Given the description of an element on the screen output the (x, y) to click on. 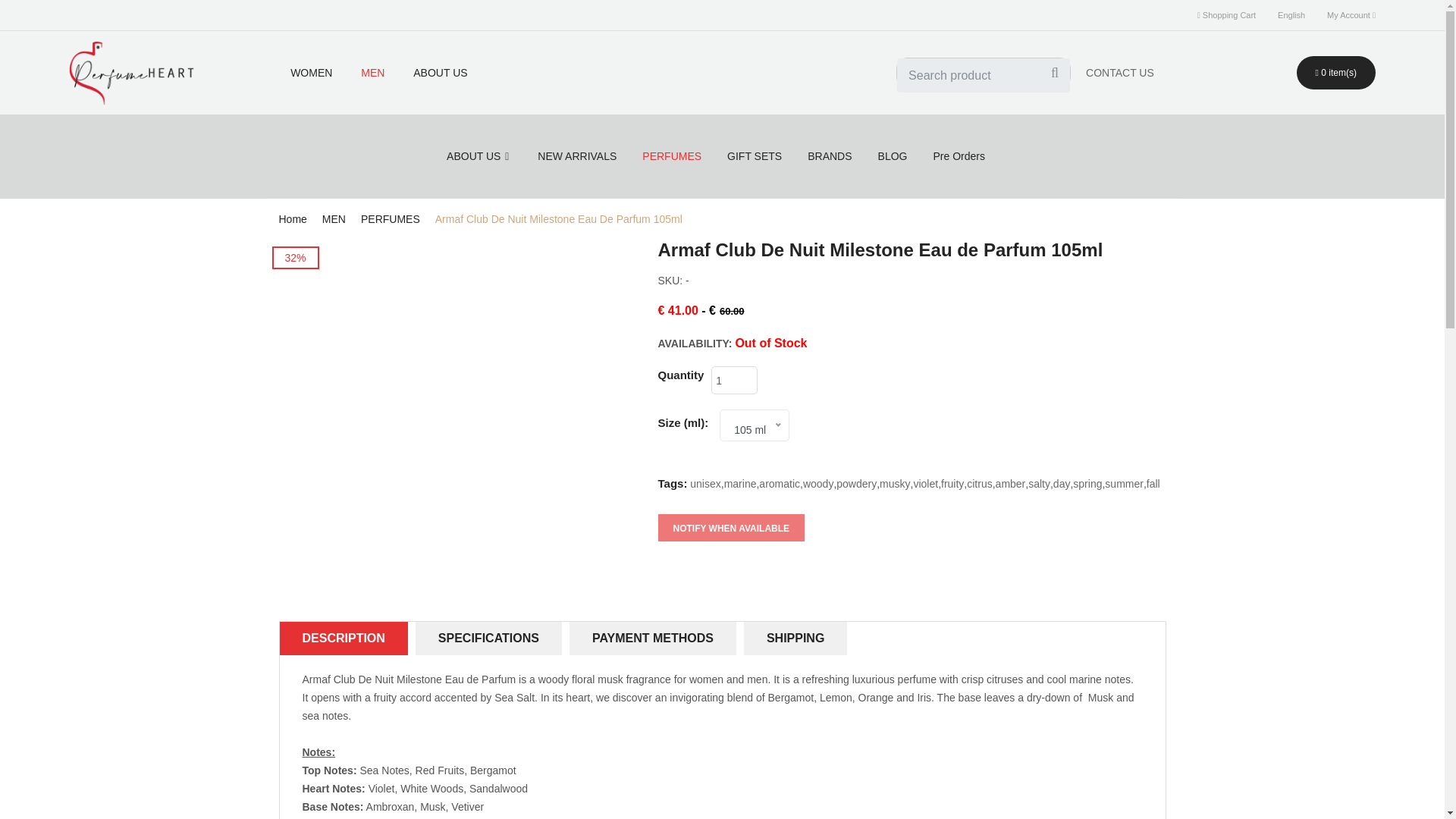
1 (734, 379)
Shopping Cart (1225, 15)
ABOUT US (440, 72)
My Account (1350, 15)
ABOUT US (440, 72)
English (1291, 15)
